Given the description of an element on the screen output the (x, y) to click on. 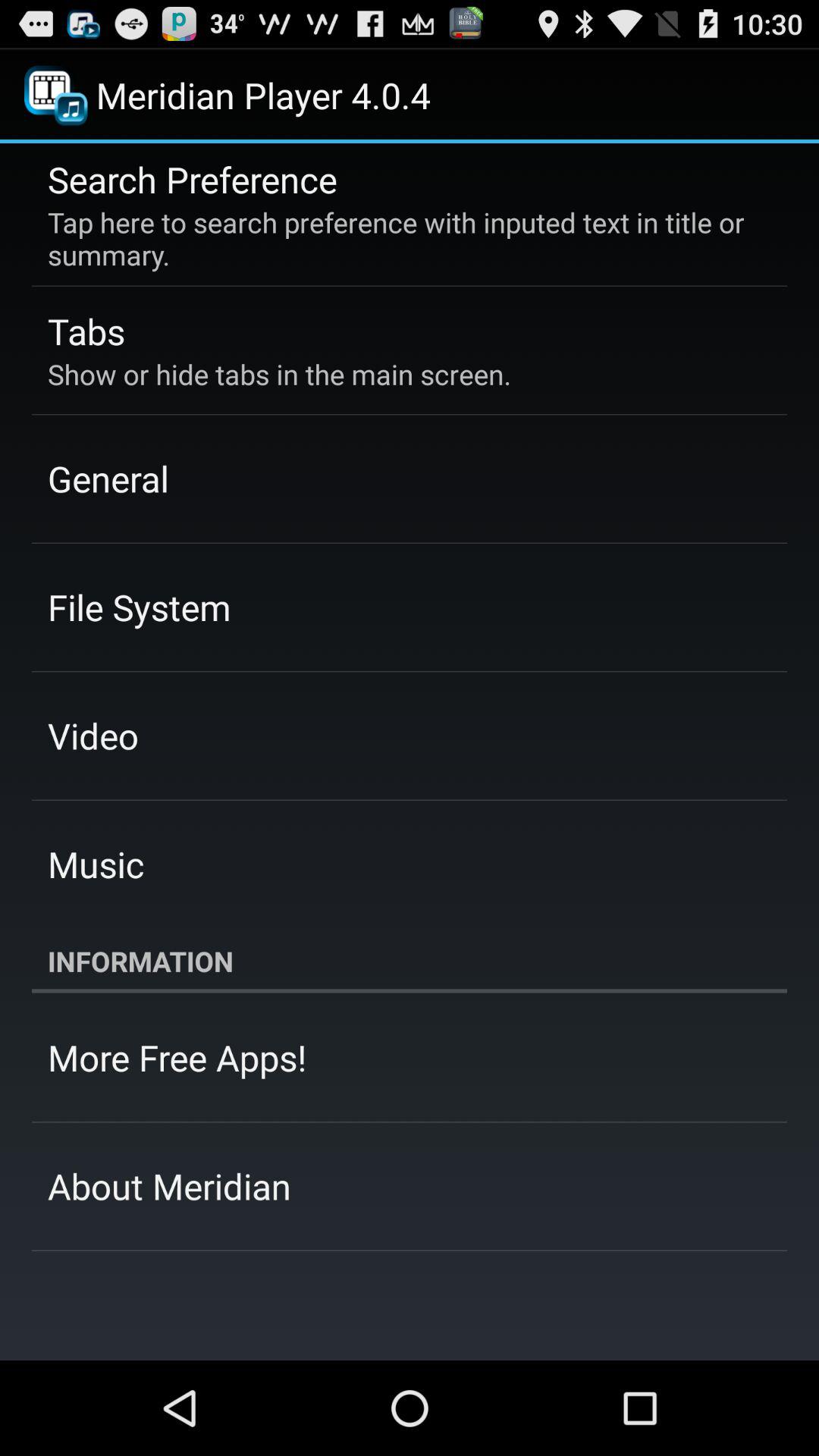
launch file system icon (138, 606)
